Given the description of an element on the screen output the (x, y) to click on. 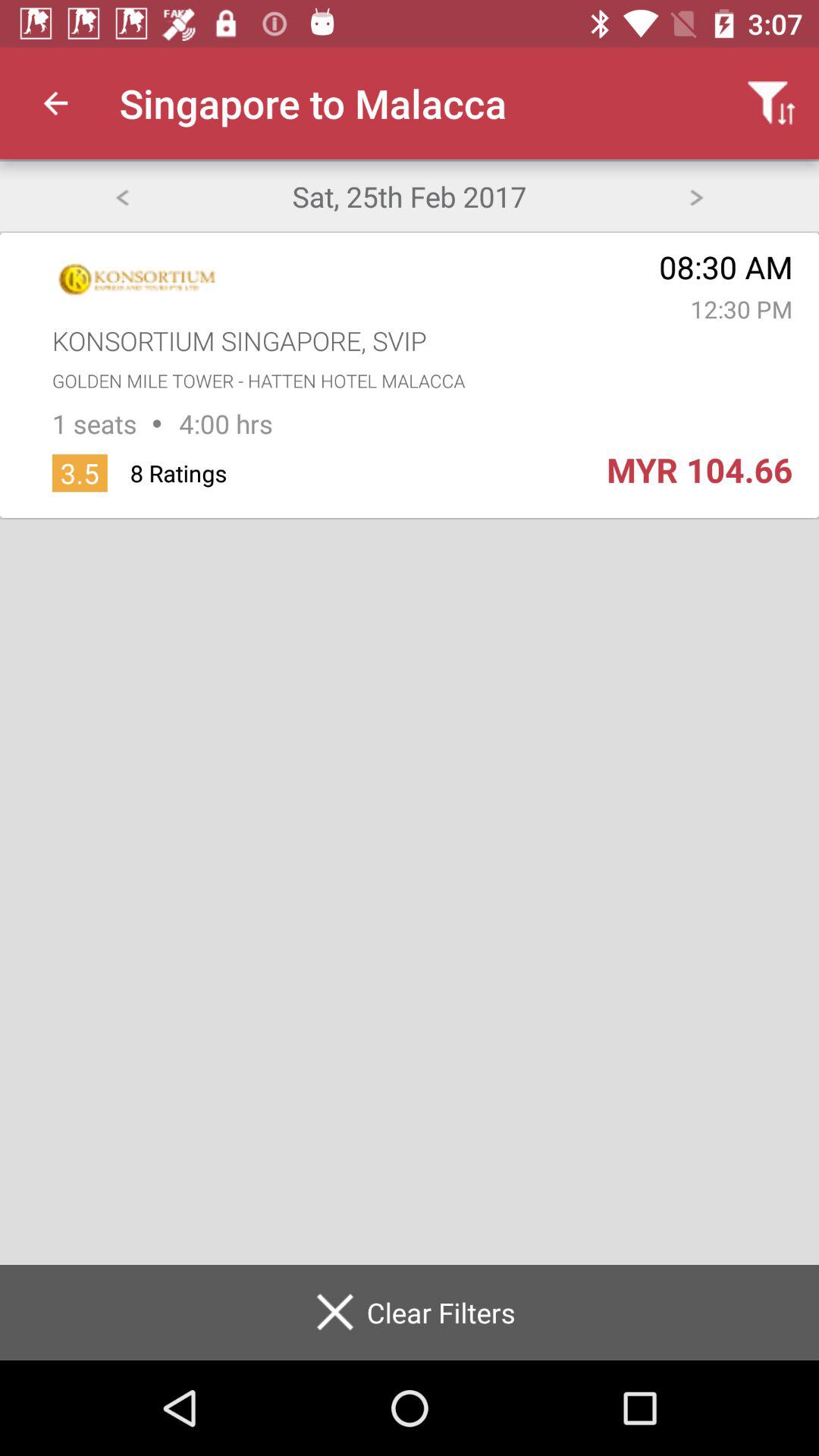
select app next to singapore to malacca app (55, 103)
